Given the description of an element on the screen output the (x, y) to click on. 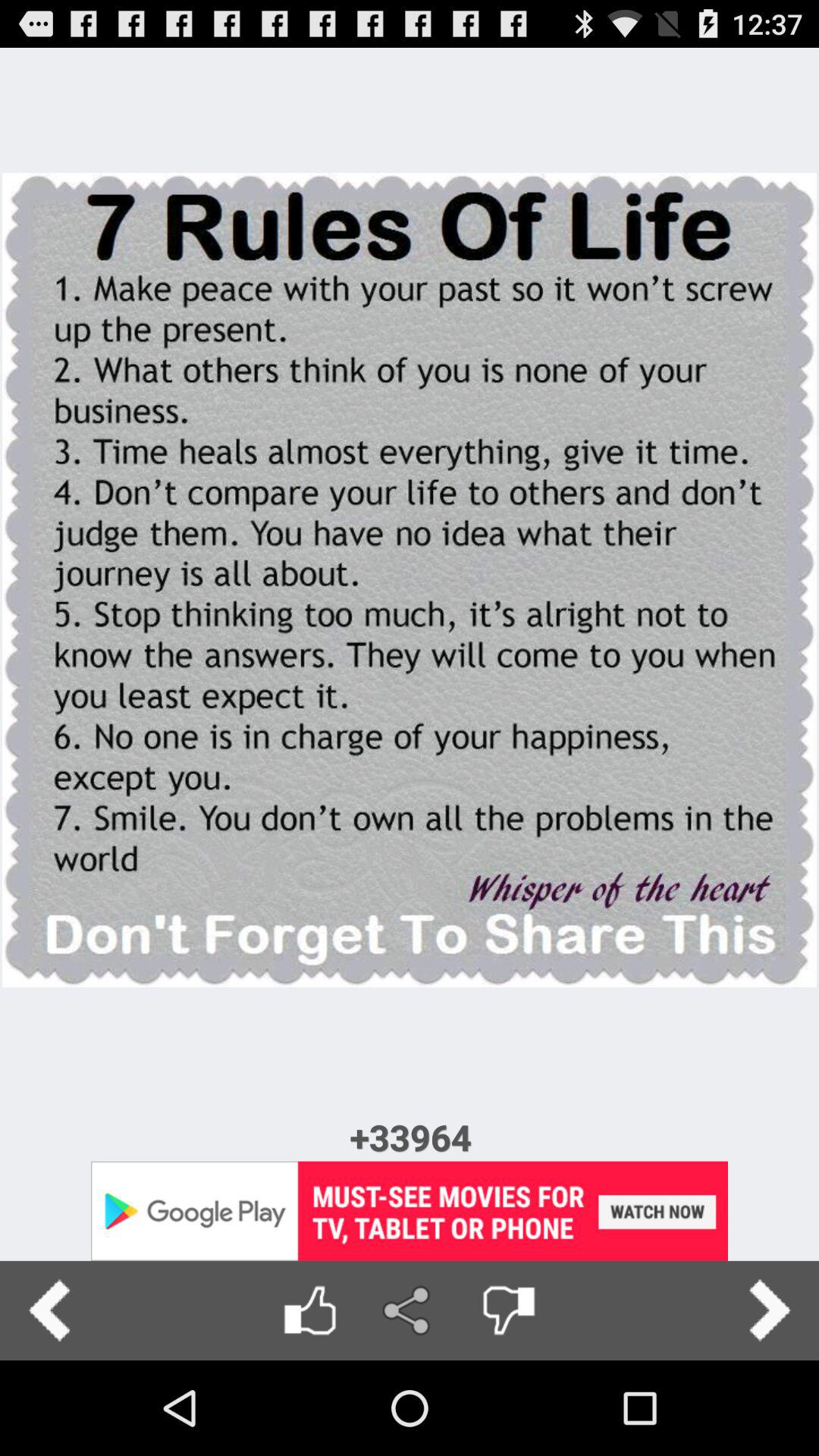
go to previous page (49, 1310)
